Given the description of an element on the screen output the (x, y) to click on. 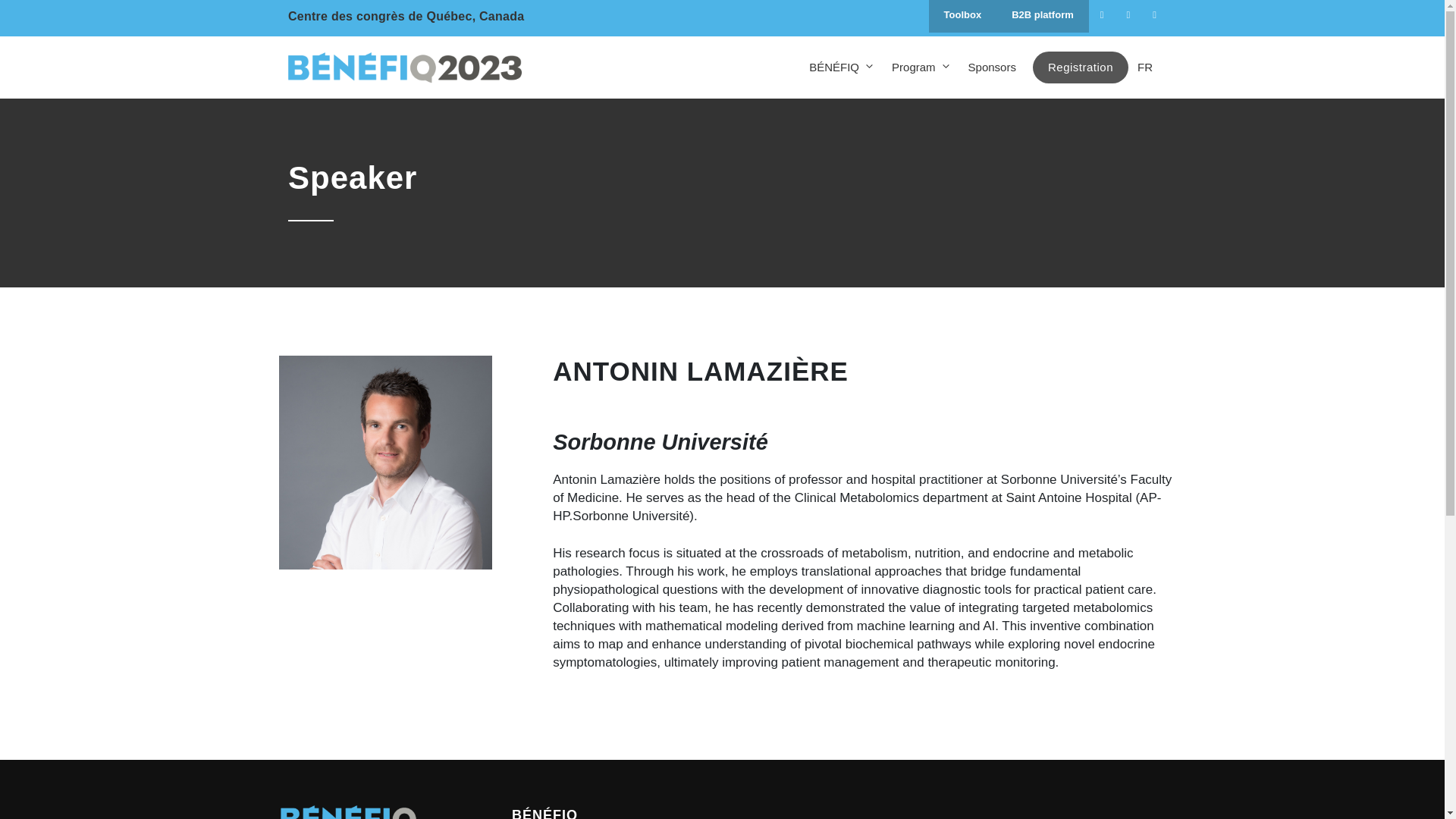
Sponsors (992, 67)
Program (920, 67)
Registration (1080, 67)
Toolbox (962, 16)
B2B platform (1042, 16)
